Given the description of an element on the screen output the (x, y) to click on. 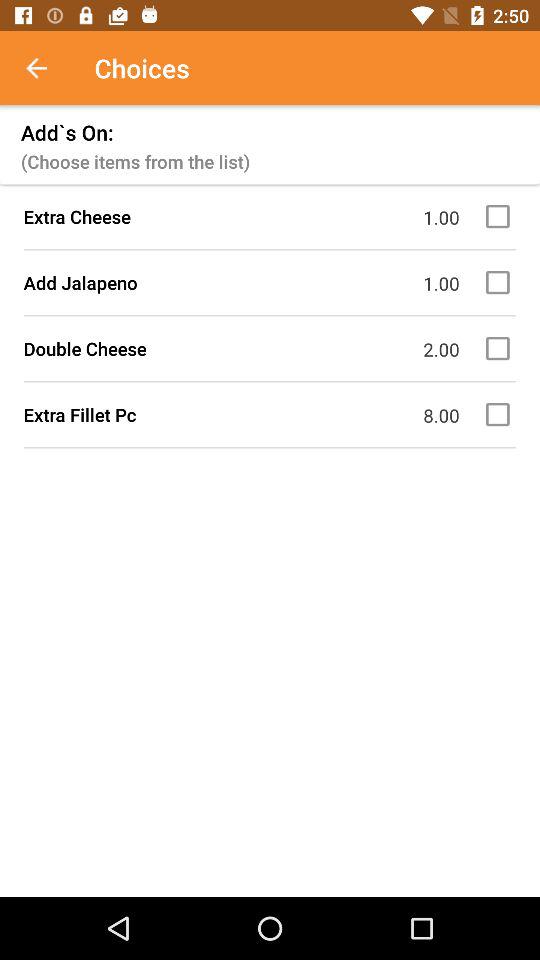
add double cheese to your order (501, 348)
